Given the description of an element on the screen output the (x, y) to click on. 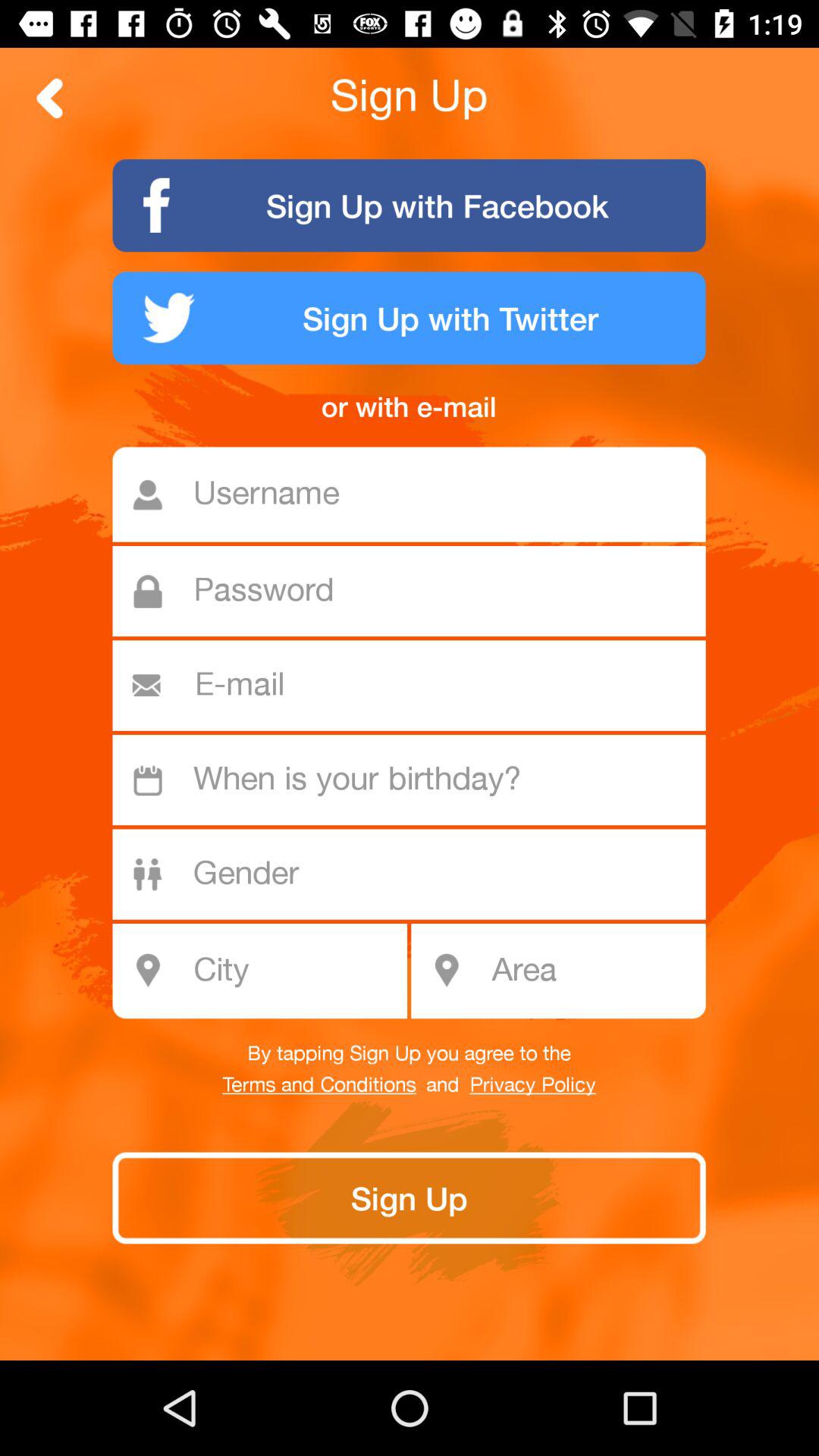
input your area location (593, 970)
